Given the description of an element on the screen output the (x, y) to click on. 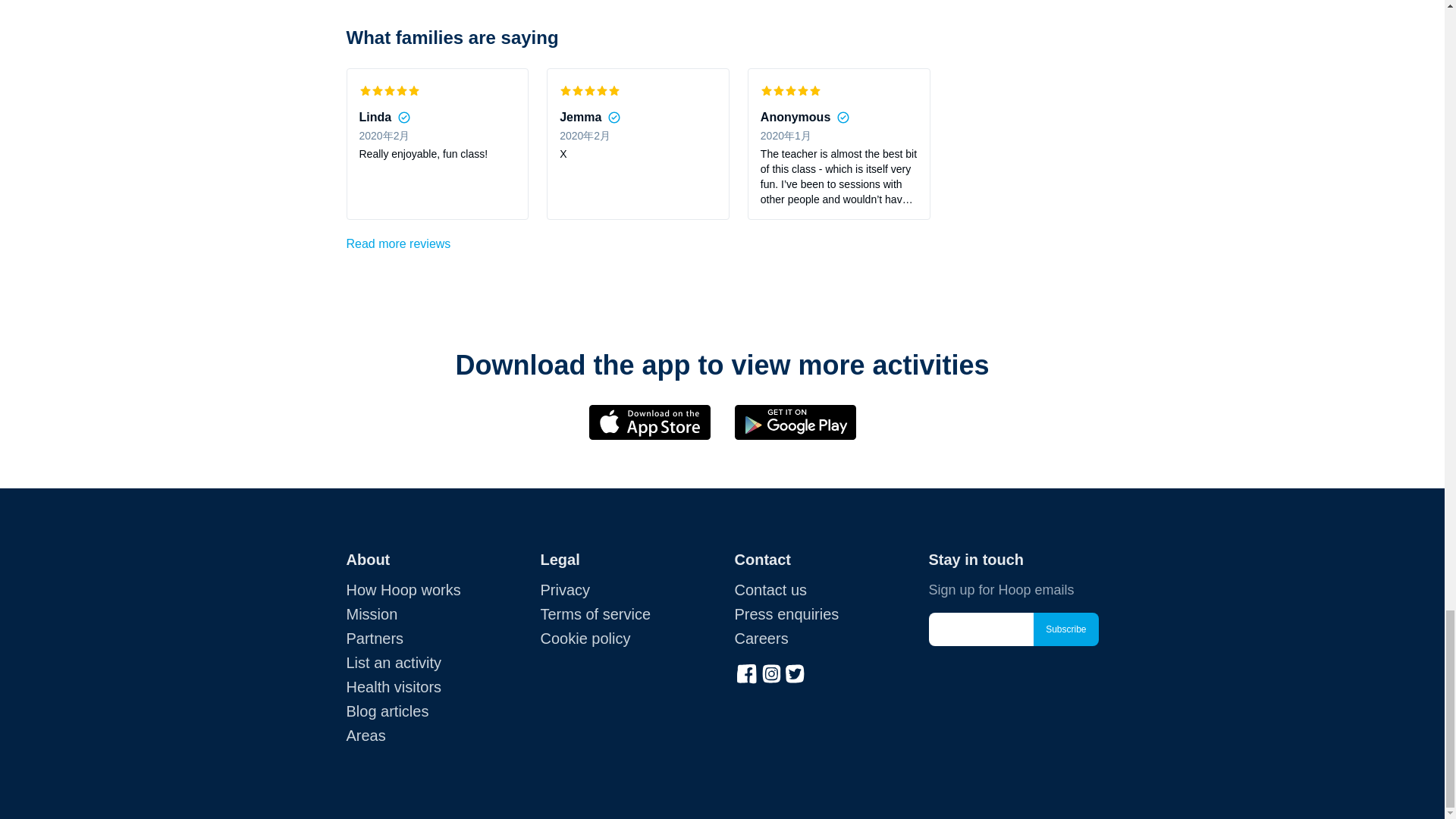
List an activity (393, 662)
Contact us (769, 589)
Instagram (770, 671)
Subscribe (1065, 629)
Blog articles (387, 710)
Press enquiries (785, 614)
Health visitors (393, 686)
How Hoop works (403, 589)
Partners (374, 638)
Cookie policy (585, 638)
Facebook (745, 671)
Areas (365, 735)
Twitter (794, 671)
Terms of service (595, 614)
Privacy (564, 589)
